Given the description of an element on the screen output the (x, y) to click on. 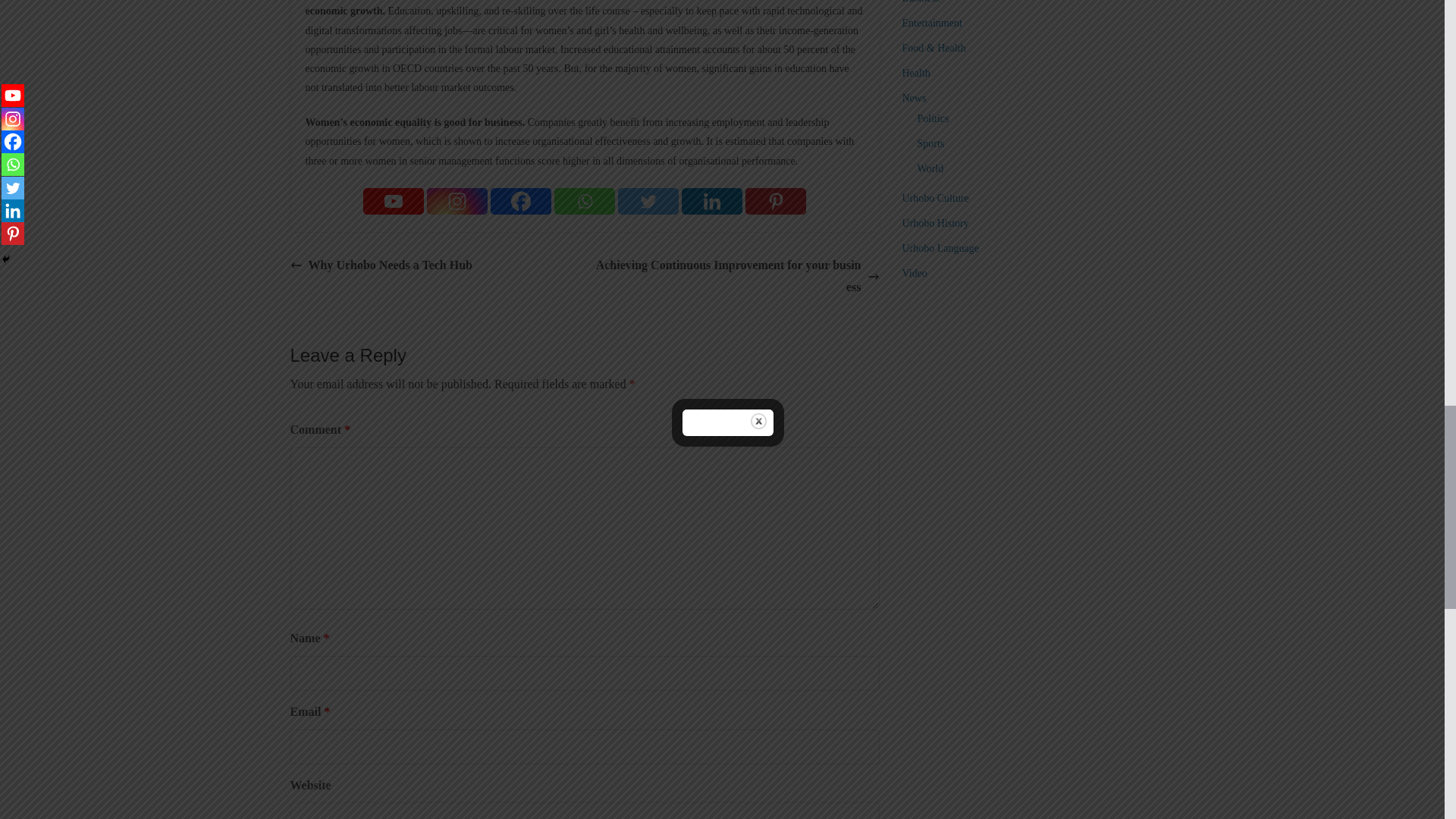
Youtube (392, 201)
Facebook (520, 201)
Instagram (456, 201)
Whatsapp (584, 201)
